Given the description of an element on the screen output the (x, y) to click on. 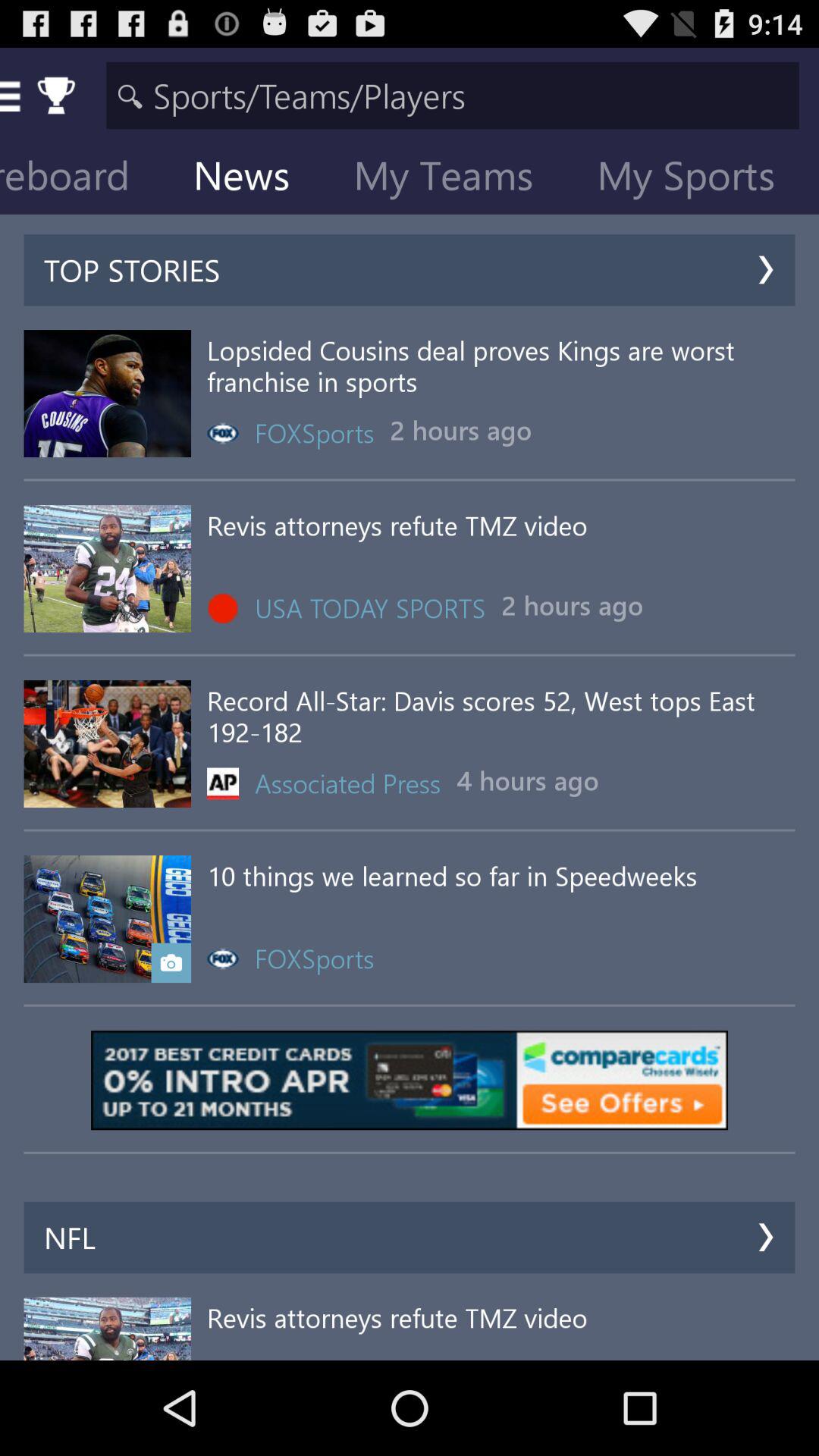
select item above the top stories (698, 178)
